Given the description of an element on the screen output the (x, y) to click on. 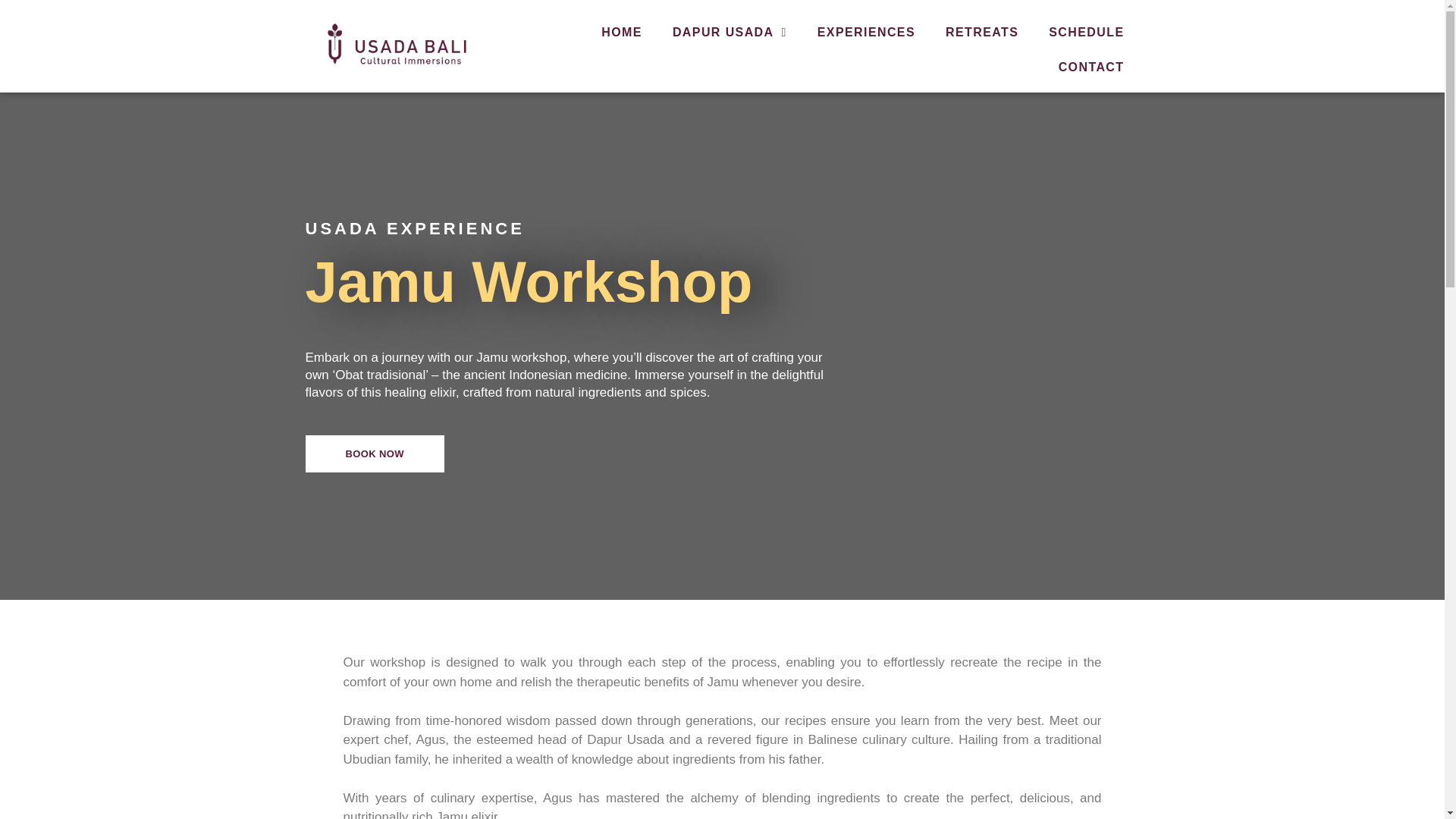
HOME (622, 32)
CONTACT (1091, 67)
DAPUR USADA (730, 32)
EXPERIENCES (866, 32)
SCHEDULE (1085, 32)
RETREATS (981, 32)
